Given the description of an element on the screen output the (x, y) to click on. 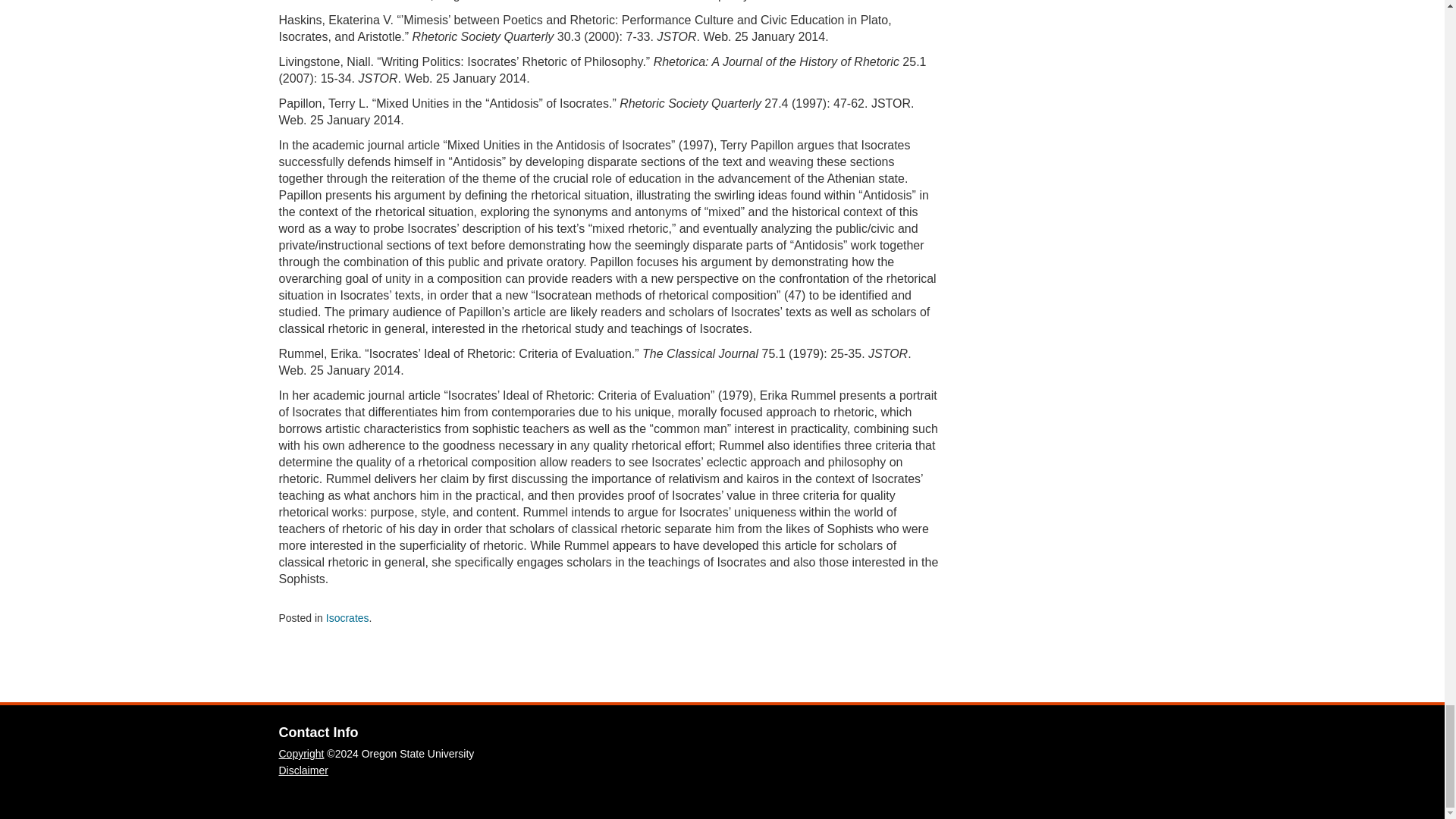
Isocrates (347, 617)
